Given the description of an element on the screen output the (x, y) to click on. 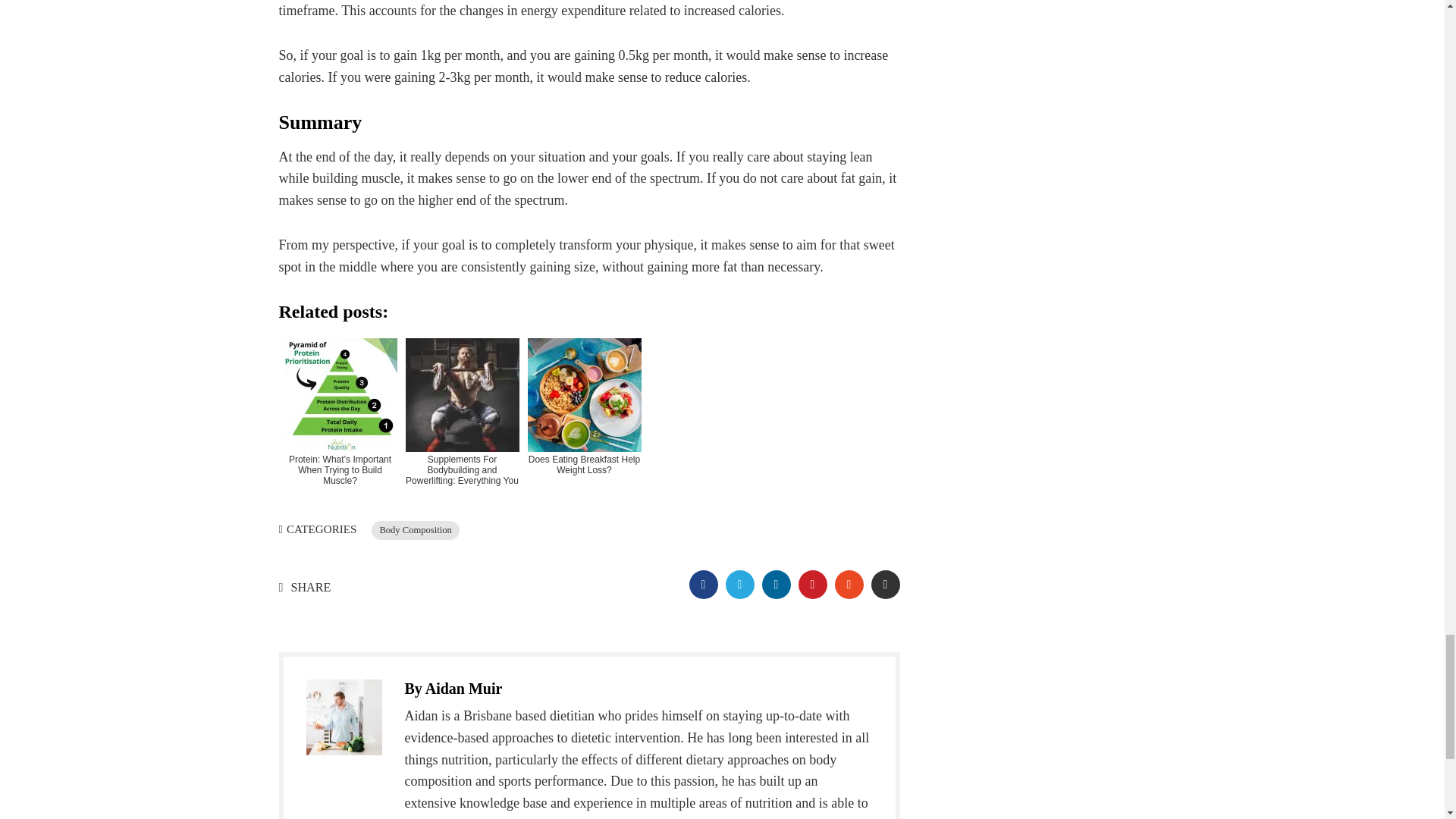
TWITTER (739, 584)
STUMBLEUPON (848, 584)
PINTEREST (812, 584)
Body Composition (415, 529)
LINKEDIN (775, 584)
FACEBOOK (702, 584)
EMAIL (884, 584)
